Given the description of an element on the screen output the (x, y) to click on. 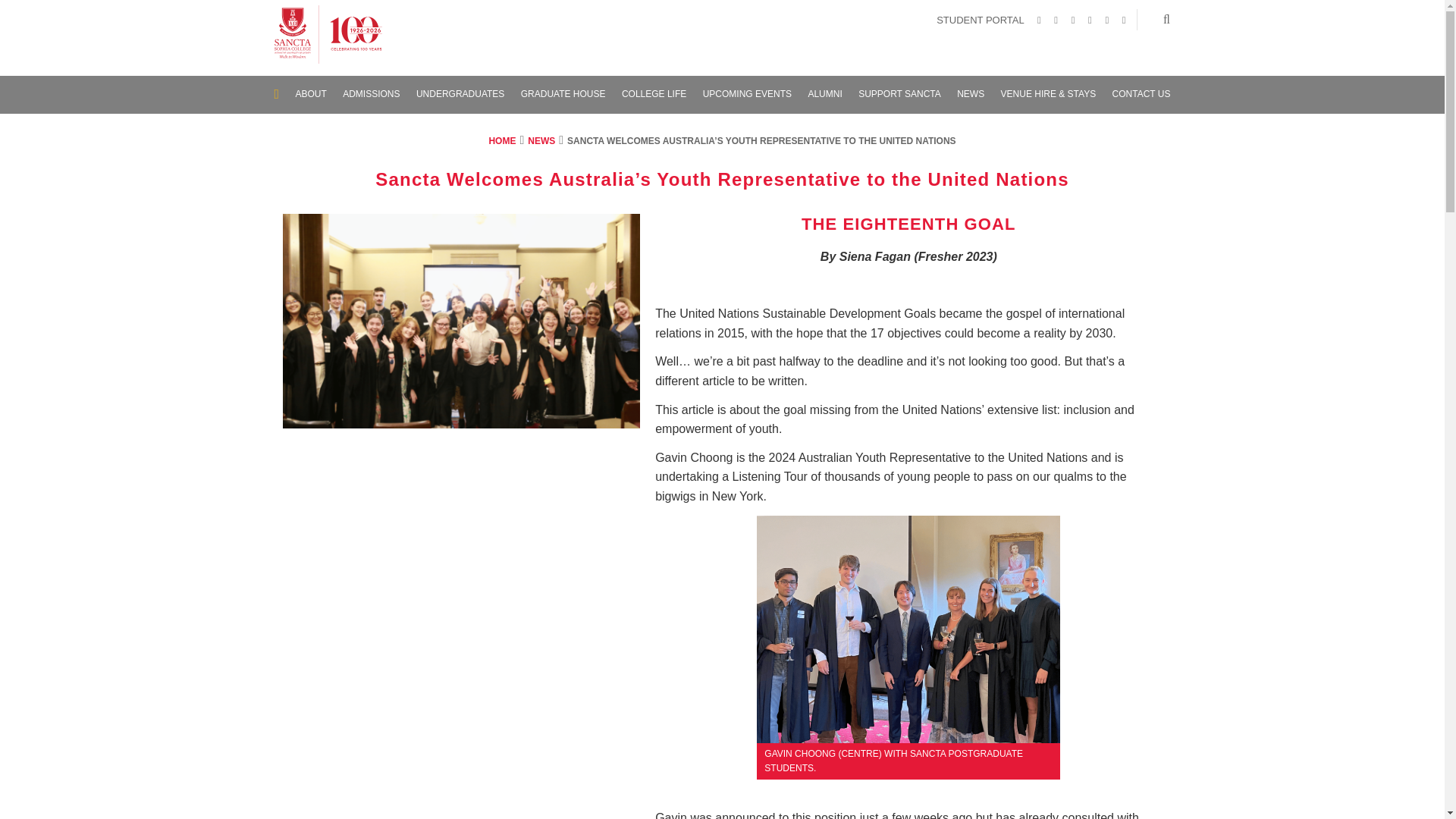
GRADUATE HOUSE (563, 94)
COLLEGE LIFE (653, 94)
Search (1166, 19)
STUDENT PORTAL (981, 19)
Search (1166, 19)
UNDERGRADUATES (459, 94)
Search (1166, 19)
ADMISSIONS (370, 94)
ABOUT (310, 94)
